Given the description of an element on the screen output the (x, y) to click on. 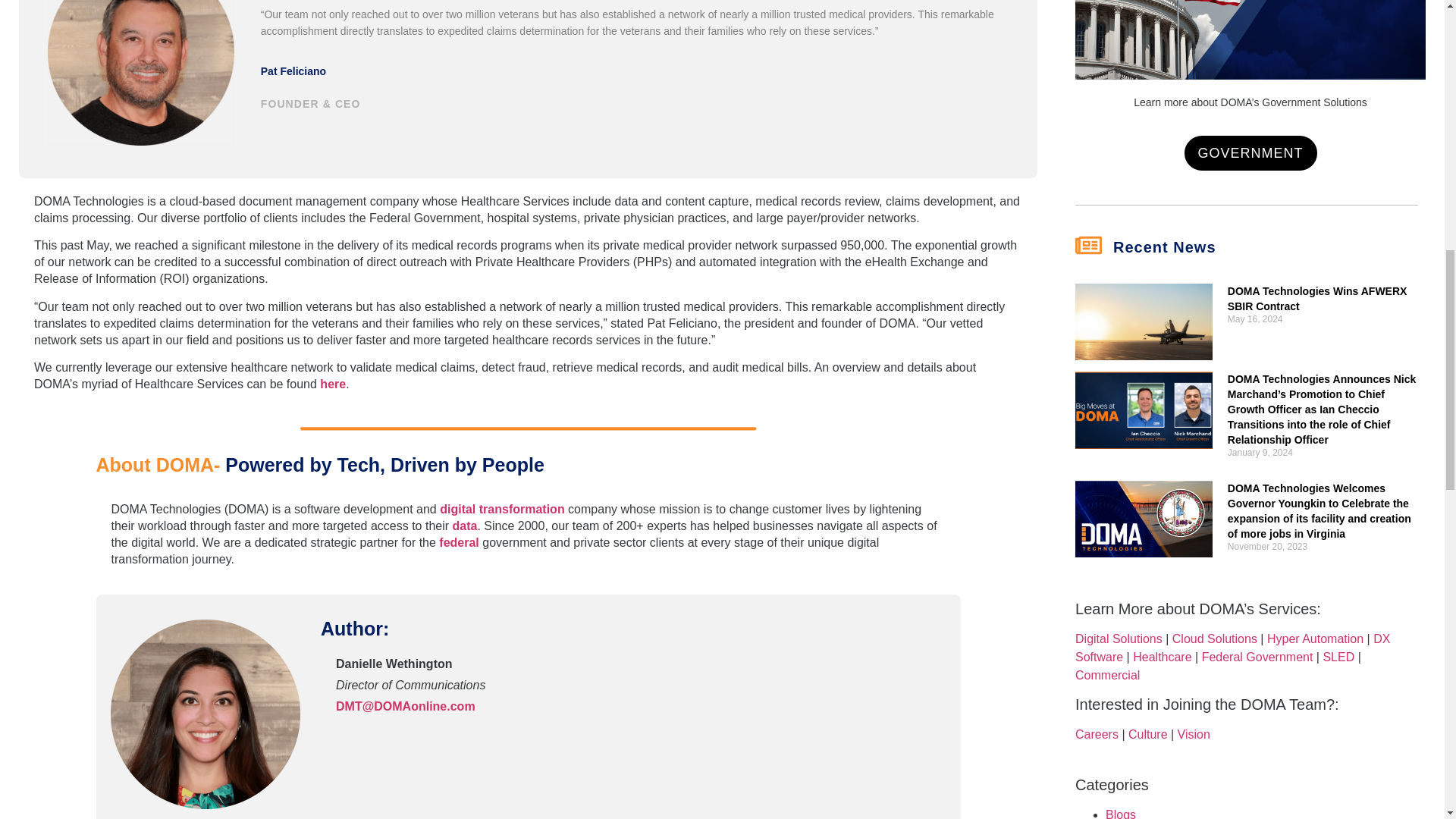
digital transformation (501, 508)
data (464, 525)
here (333, 383)
GOVERNMENT (1251, 152)
DOMA Technologies Wins AFWERX SBIR Contract (1317, 298)
federal (460, 542)
DanielleWethingtonCircle-min (204, 714)
